Given the description of an element on the screen output the (x, y) to click on. 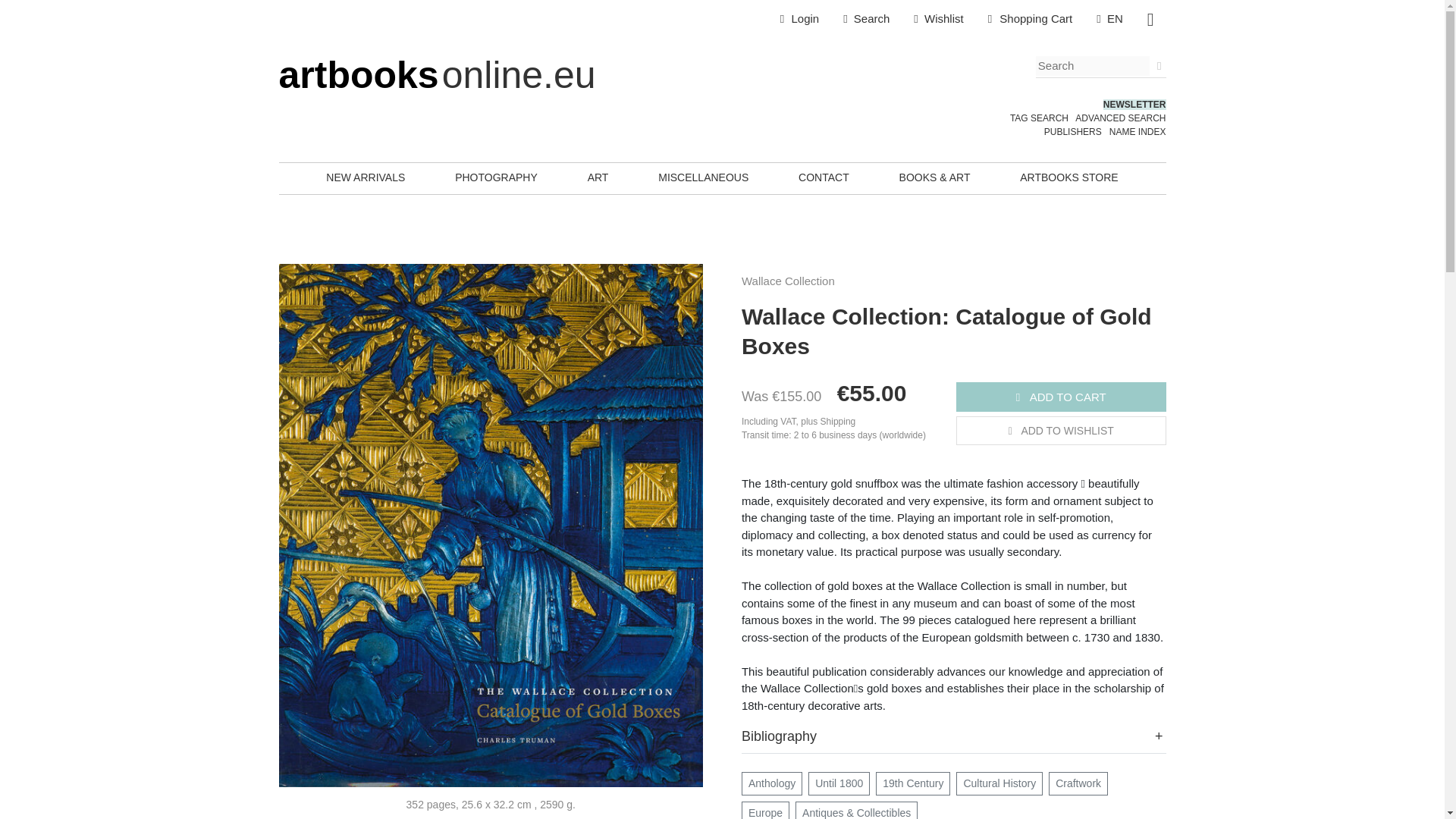
Login (799, 19)
Wishlist (938, 19)
EN (1109, 19)
NEWSLETTER (1134, 104)
TAG SEARCH (1039, 118)
artbooksonline.eu (437, 75)
Shopping Cart (1029, 19)
PHOTOGRAPHY (496, 177)
PUBLISHERS (1072, 131)
ADVANCED SEARCH (1120, 118)
